Given the description of an element on the screen output the (x, y) to click on. 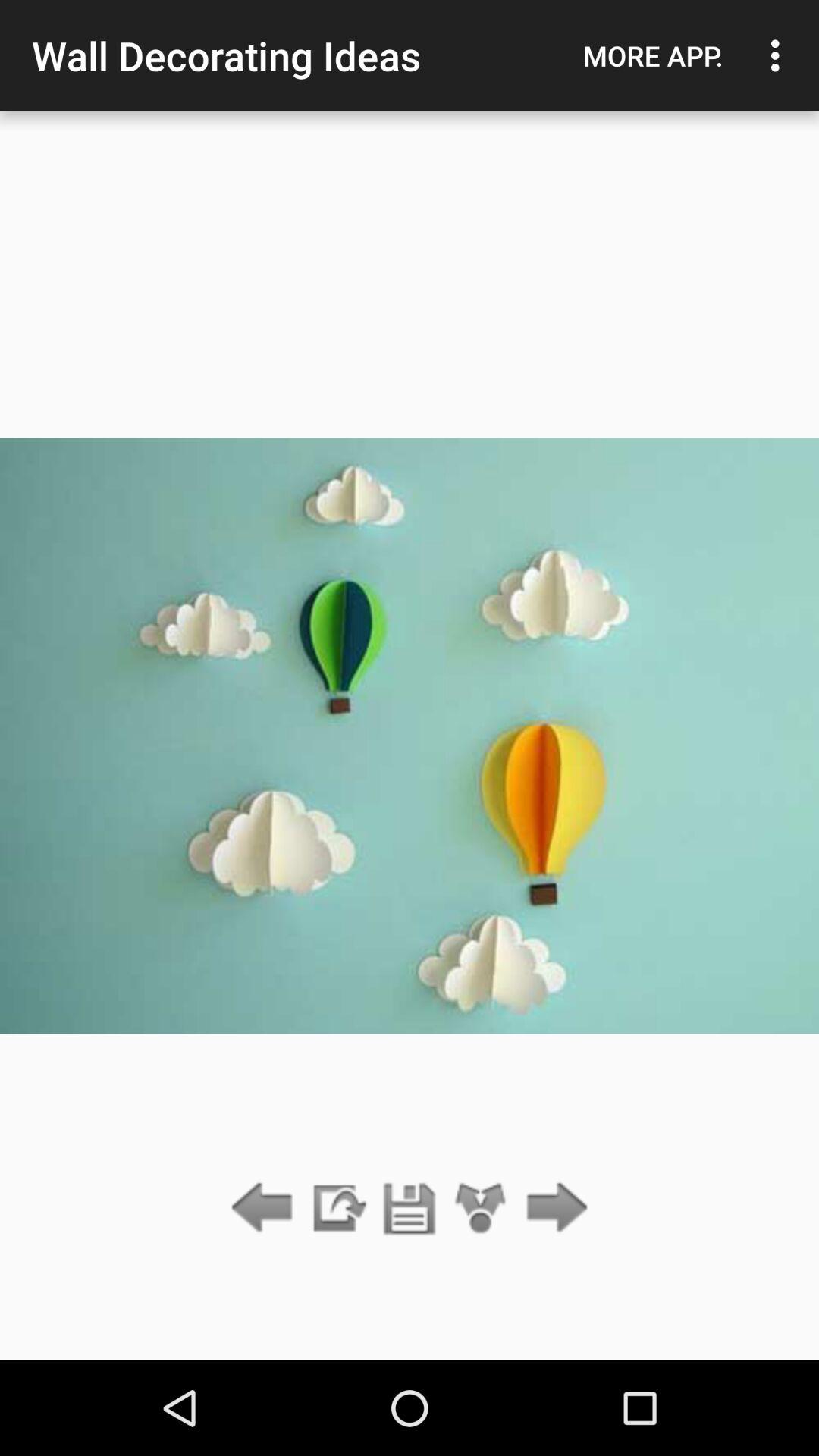
turn on the more app. (653, 55)
